Given the description of an element on the screen output the (x, y) to click on. 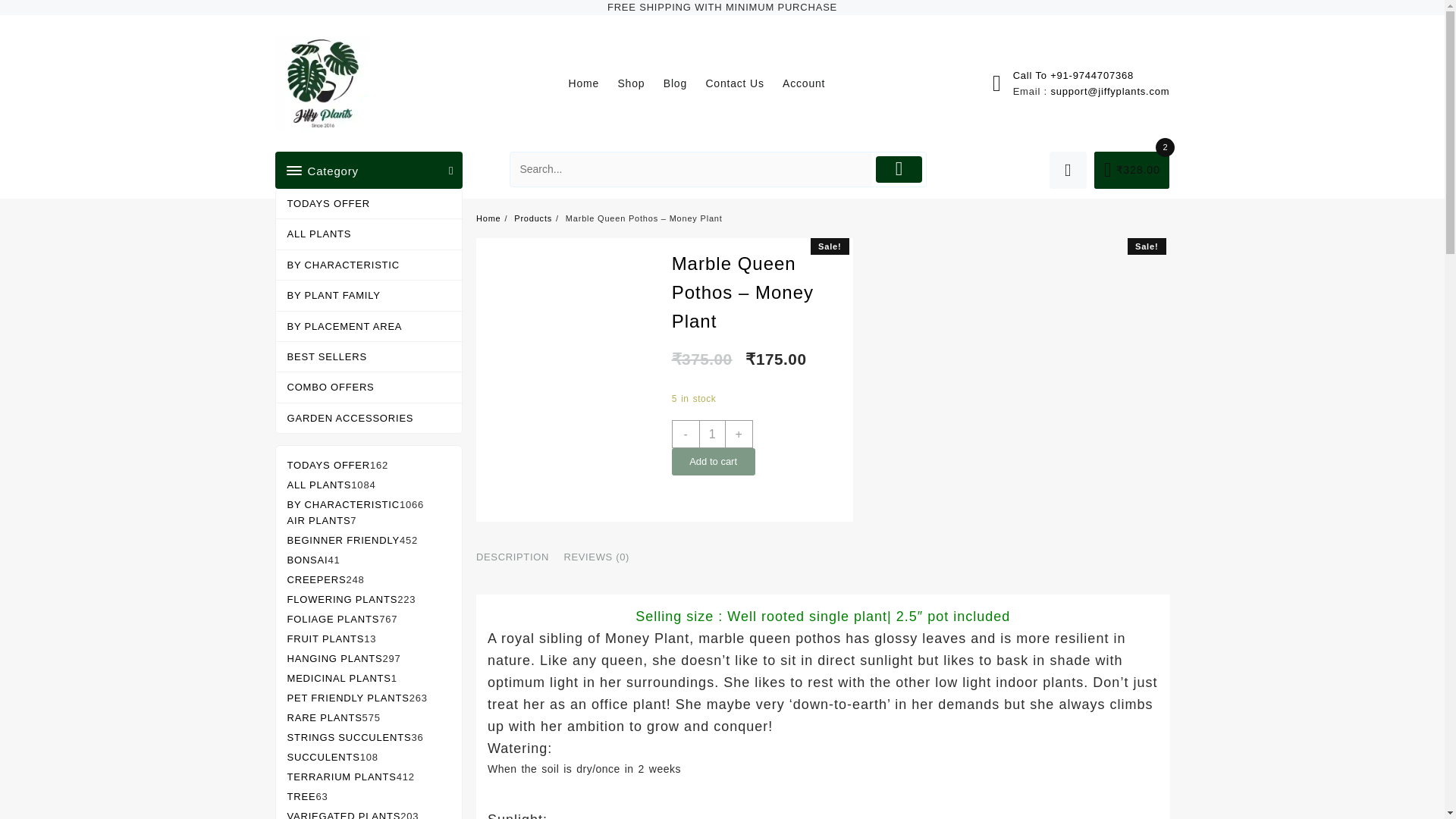
Home (590, 83)
Search (691, 169)
1 (711, 433)
Shop (638, 83)
